Given the description of an element on the screen output the (x, y) to click on. 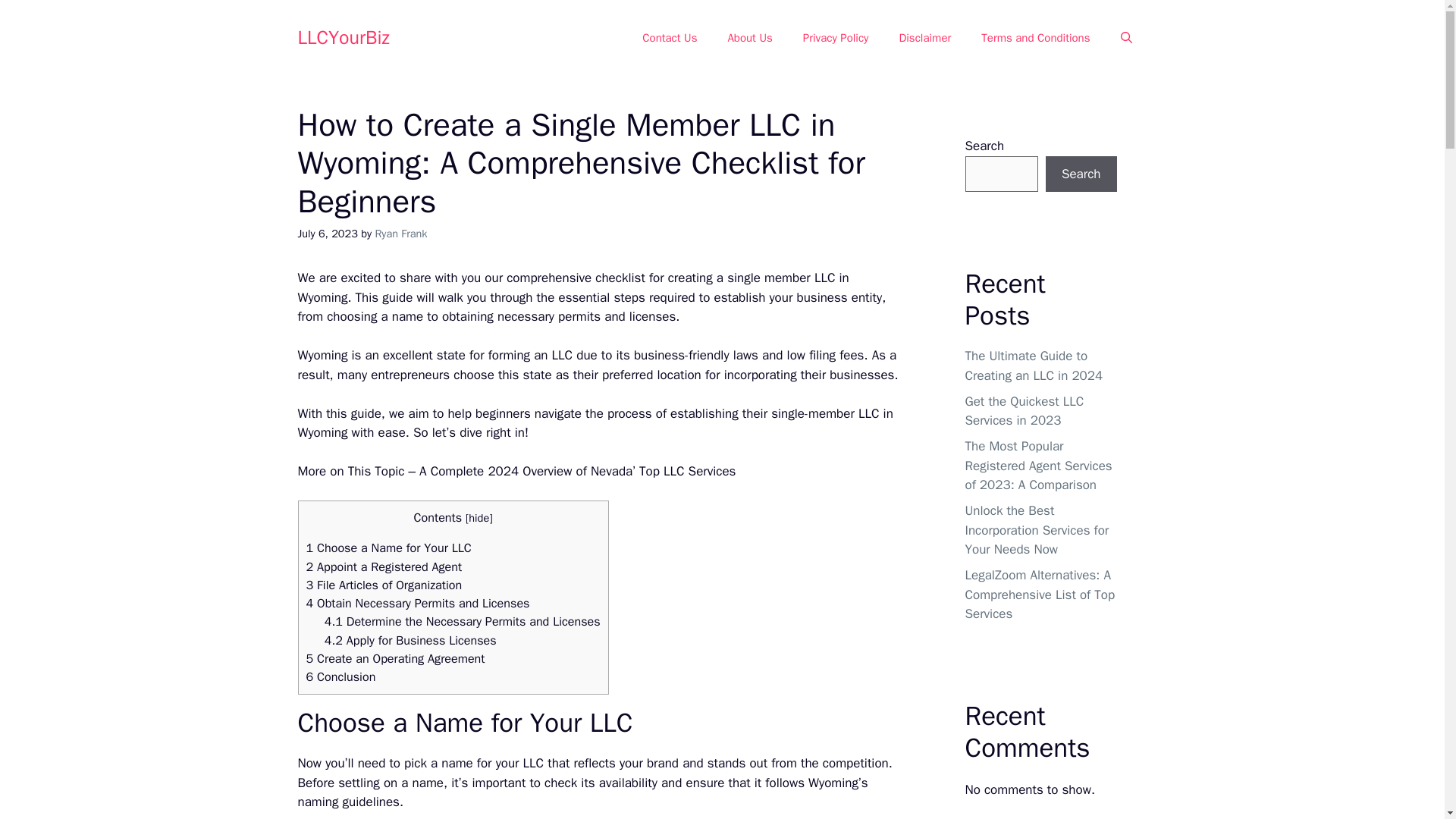
Contact Us (669, 37)
6 Conclusion (340, 676)
Ryan Frank (400, 233)
3 File Articles of Organization (384, 584)
The Ultimate Guide to Creating an LLC in 2024 (1032, 366)
1 Choose a Name for Your LLC (388, 547)
Privacy Policy (835, 37)
4.1 Determine the Necessary Permits and Licenses (461, 621)
4.2 Apply for Business Licenses (410, 640)
Search (1080, 174)
Disclaimer (924, 37)
The Ultimate Guide to Creating an LLC in 2024 (824, 277)
LLCYourBiz (342, 37)
Get the Quickest LLC Services in 2023 (1023, 410)
LLC in Wyoming (594, 423)
